Given the description of an element on the screen output the (x, y) to click on. 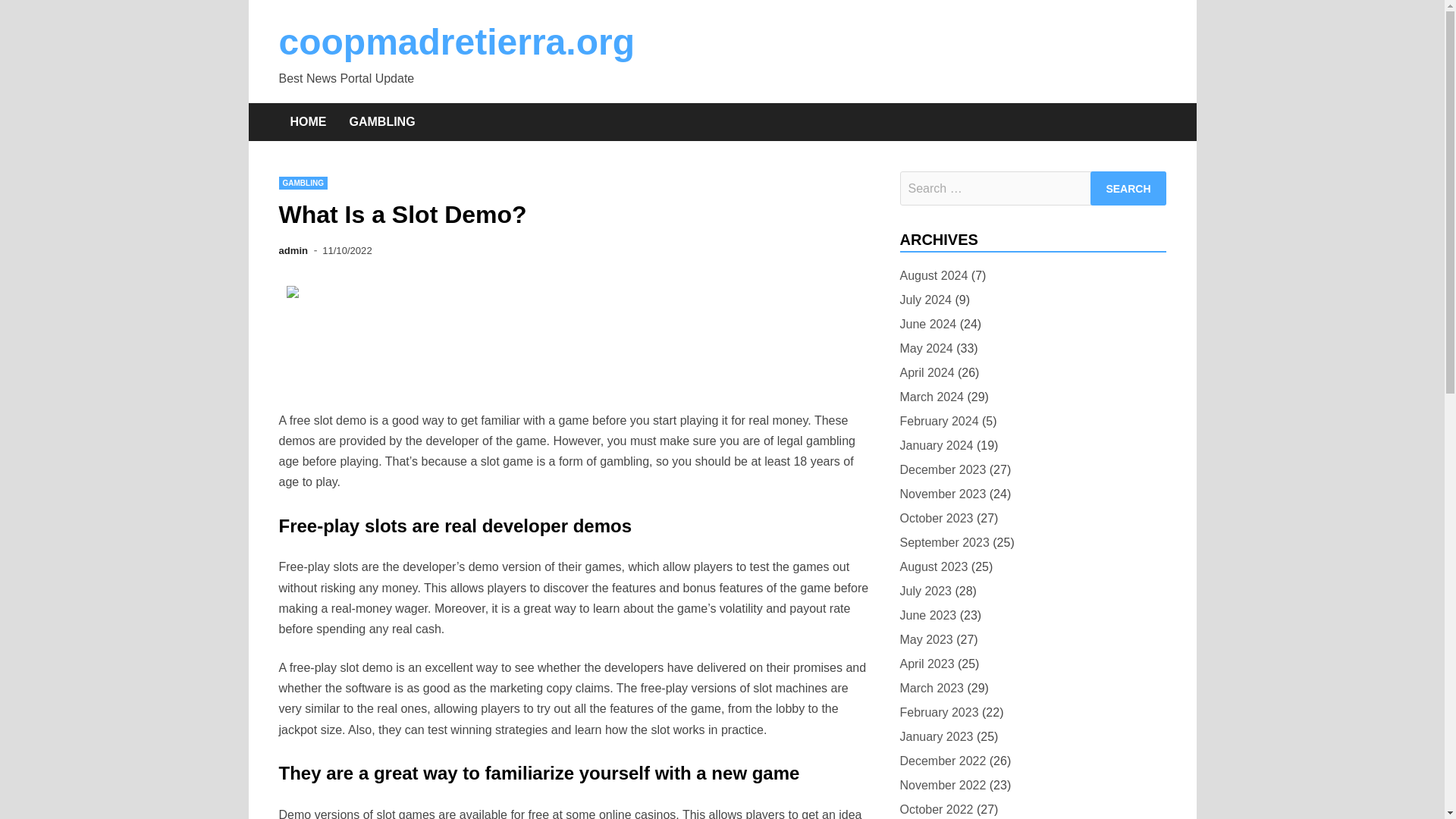
Search (1128, 188)
March 2024 (931, 396)
coopmadretierra.org (456, 42)
November 2022 (942, 784)
July 2023 (925, 590)
June 2024 (927, 323)
June 2023 (927, 615)
January 2024 (935, 444)
December 2022 (942, 761)
October 2022 (935, 809)
